Given the description of an element on the screen output the (x, y) to click on. 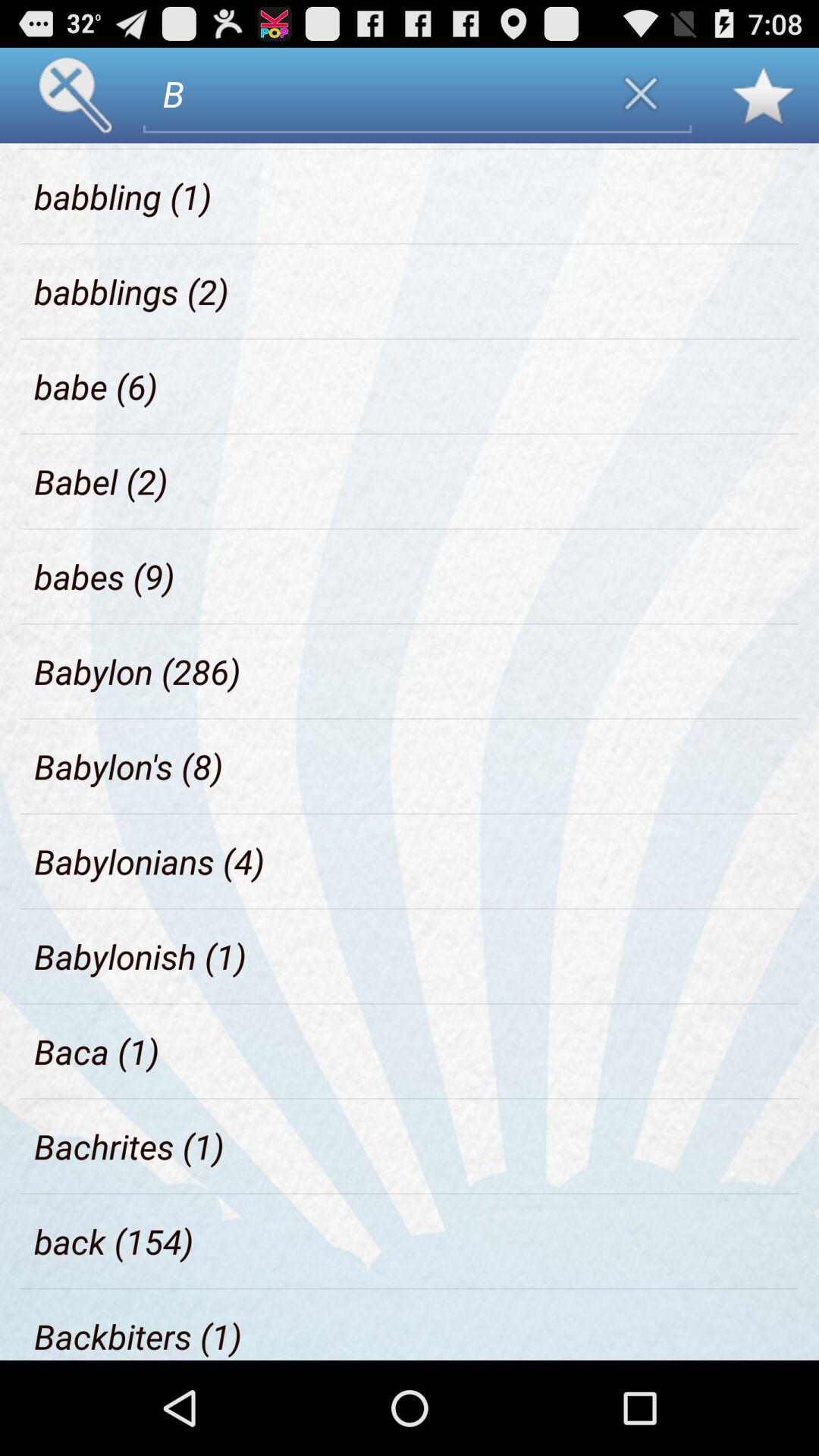
swipe to the babblings (2) item (131, 291)
